Given the description of an element on the screen output the (x, y) to click on. 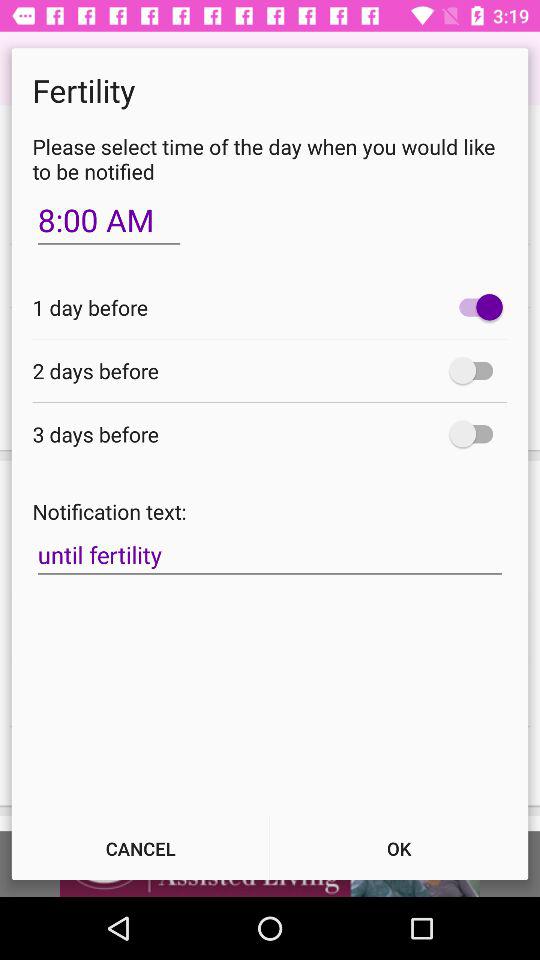
one day before toggle option (476, 307)
